Given the description of an element on the screen output the (x, y) to click on. 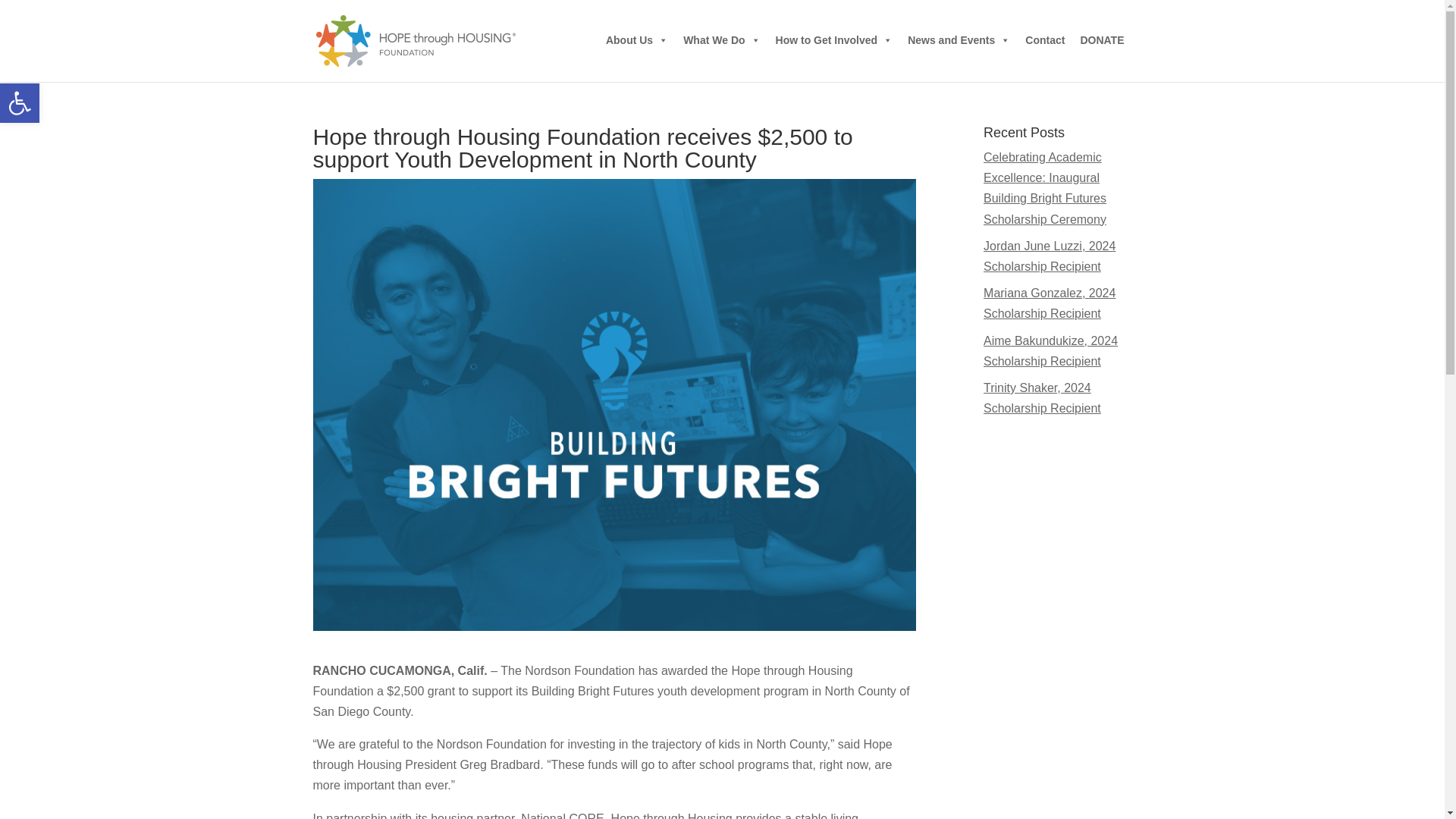
Accessibility Tools (19, 102)
Accessibility Tools (19, 102)
What We Do (19, 102)
About Us (721, 40)
Skip to content (636, 40)
